Given the description of an element on the screen output the (x, y) to click on. 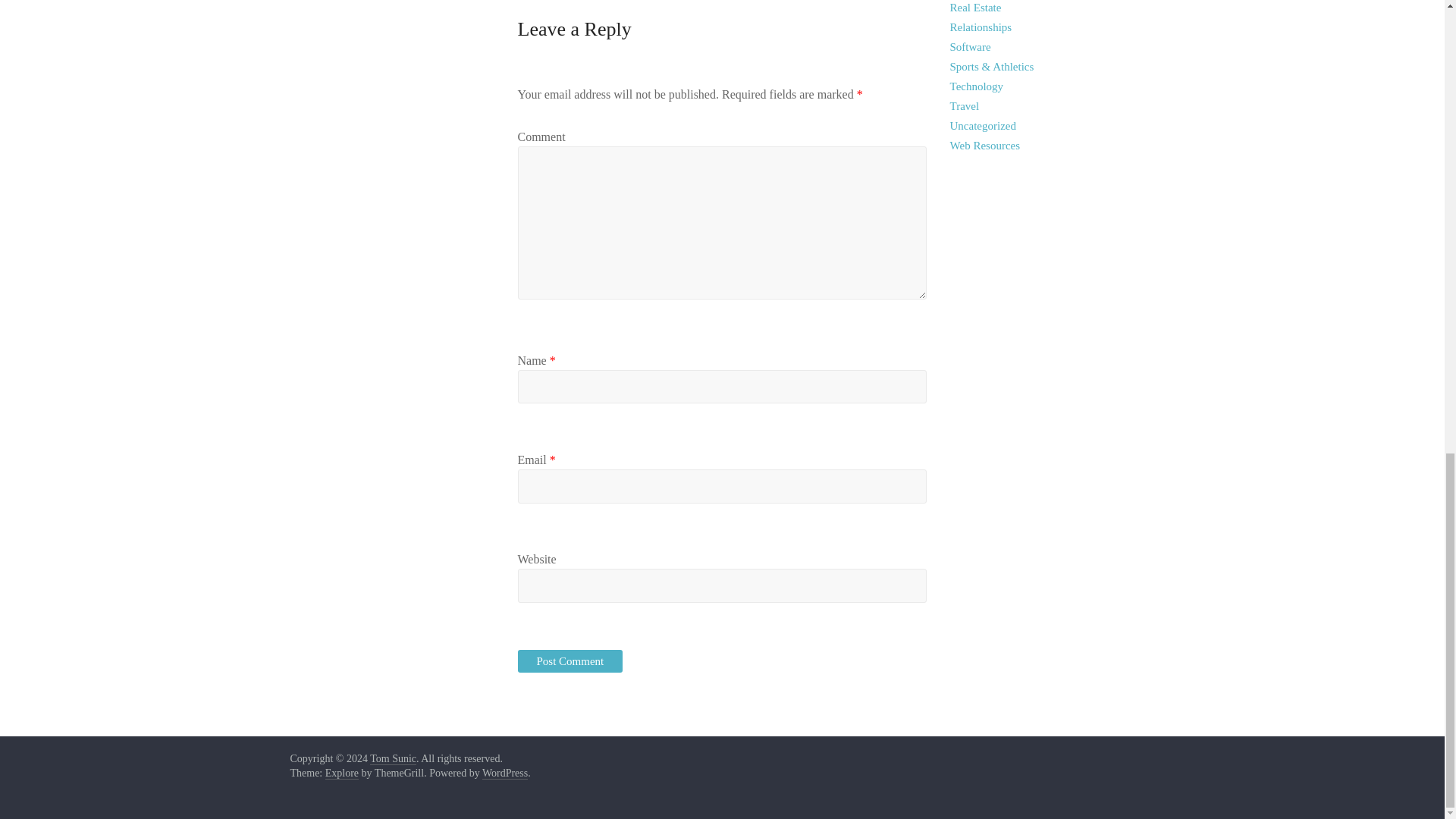
Explore (341, 773)
WordPress (504, 773)
Post Comment (569, 661)
Tom Sunic (392, 758)
Post Comment (569, 661)
